Given the description of an element on the screen output the (x, y) to click on. 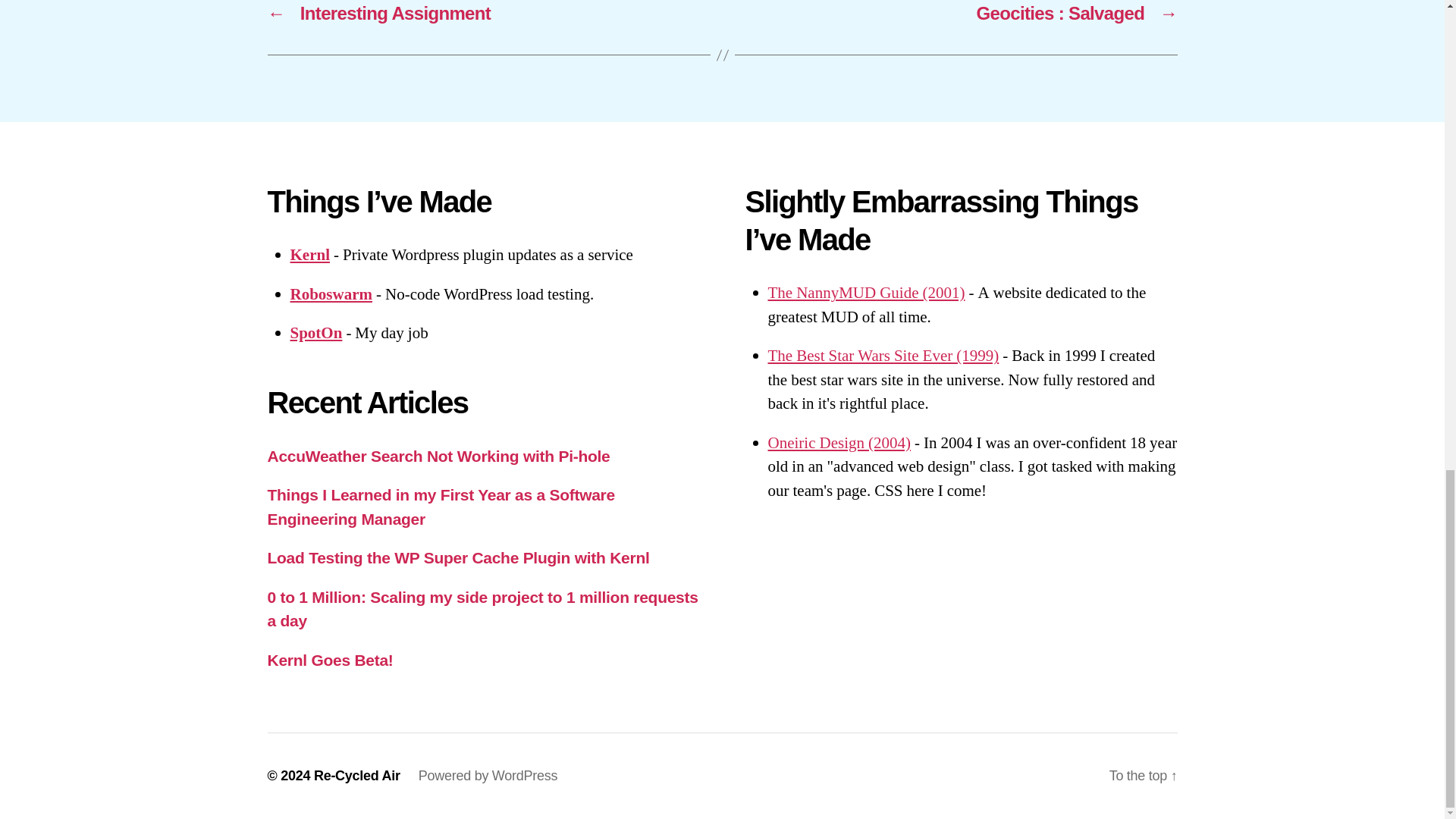
Kernl (309, 254)
AccuWeather Search Not Working with Pi-hole (438, 456)
Roboswarm (330, 294)
SpotOn (315, 332)
